Given the description of an element on the screen output the (x, y) to click on. 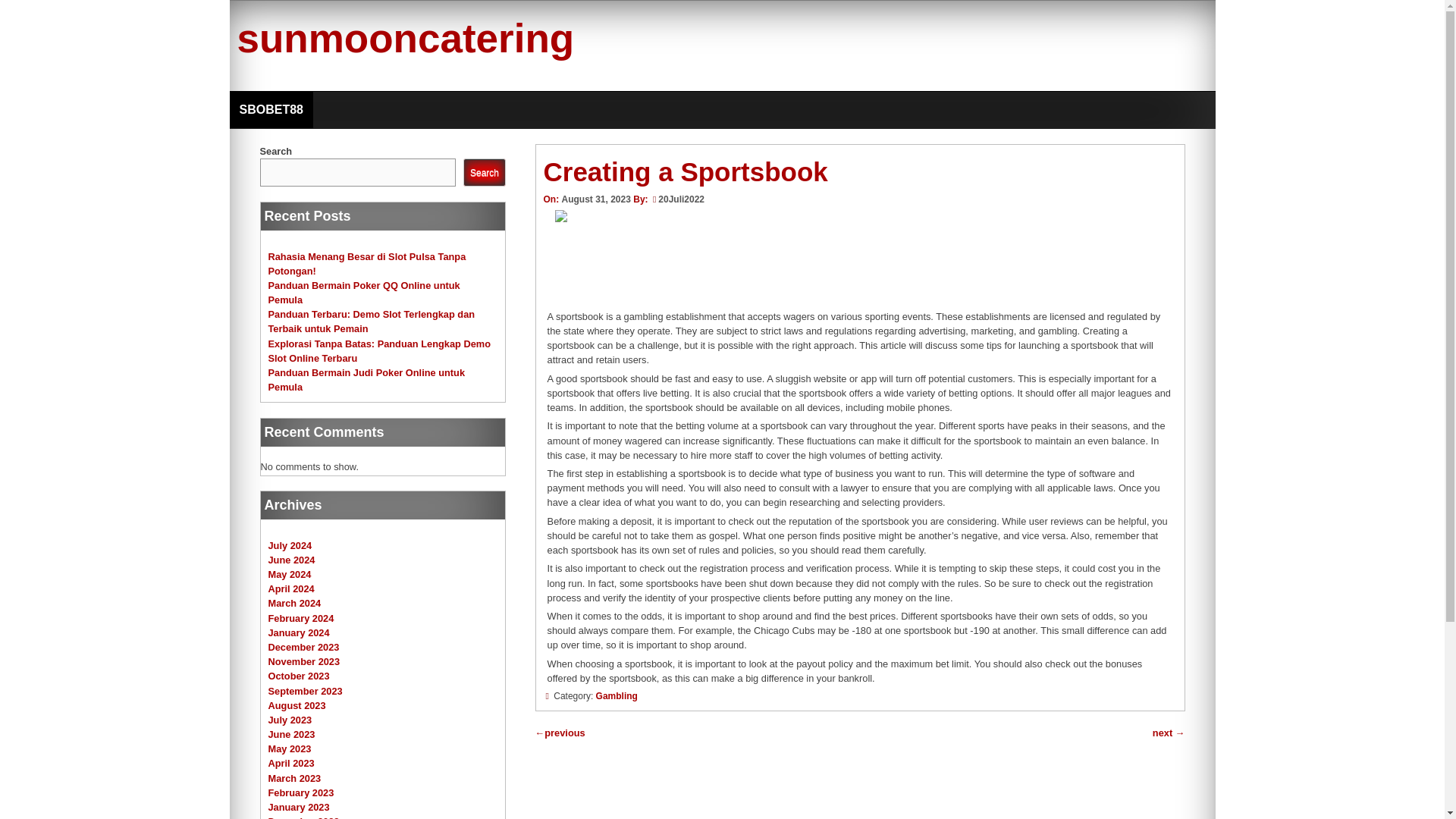
May 2024 (289, 573)
March 2024 (294, 603)
May 2023 (289, 748)
Gambling (616, 696)
20Juli2022 (681, 199)
December 2023 (303, 646)
October 2023 (298, 675)
Panduan Bermain Judi Poker Online untuk Pemula (366, 379)
February 2023 (300, 792)
July 2023 (290, 719)
January 2023 (298, 807)
July 2024 (290, 545)
April 2024 (290, 588)
August 2023 (296, 705)
sunmooncatering (404, 37)
